Given the description of an element on the screen output the (x, y) to click on. 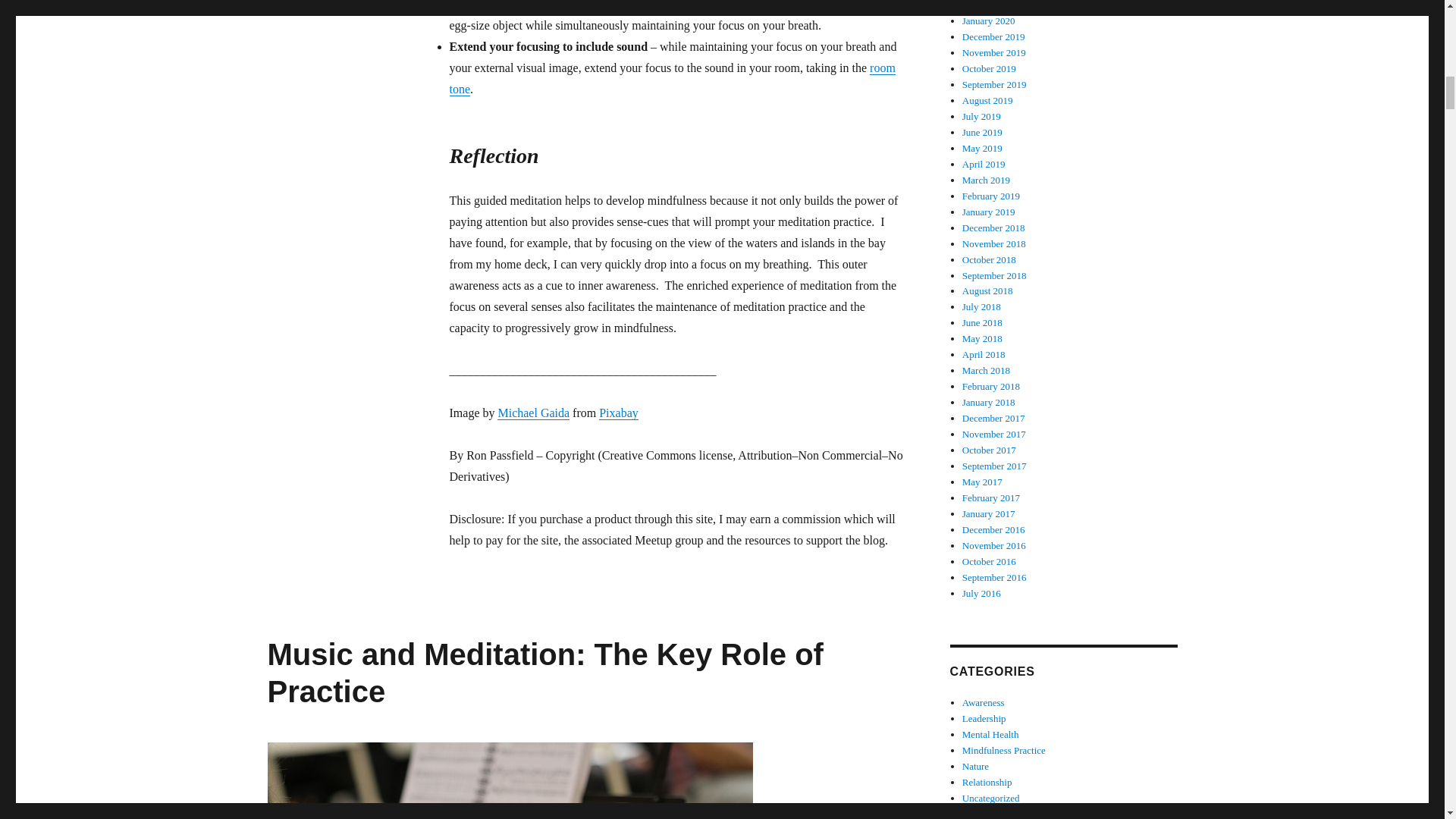
Pixabay (618, 412)
room tone (671, 78)
Michael Gaida (533, 412)
